Given the description of an element on the screen output the (x, y) to click on. 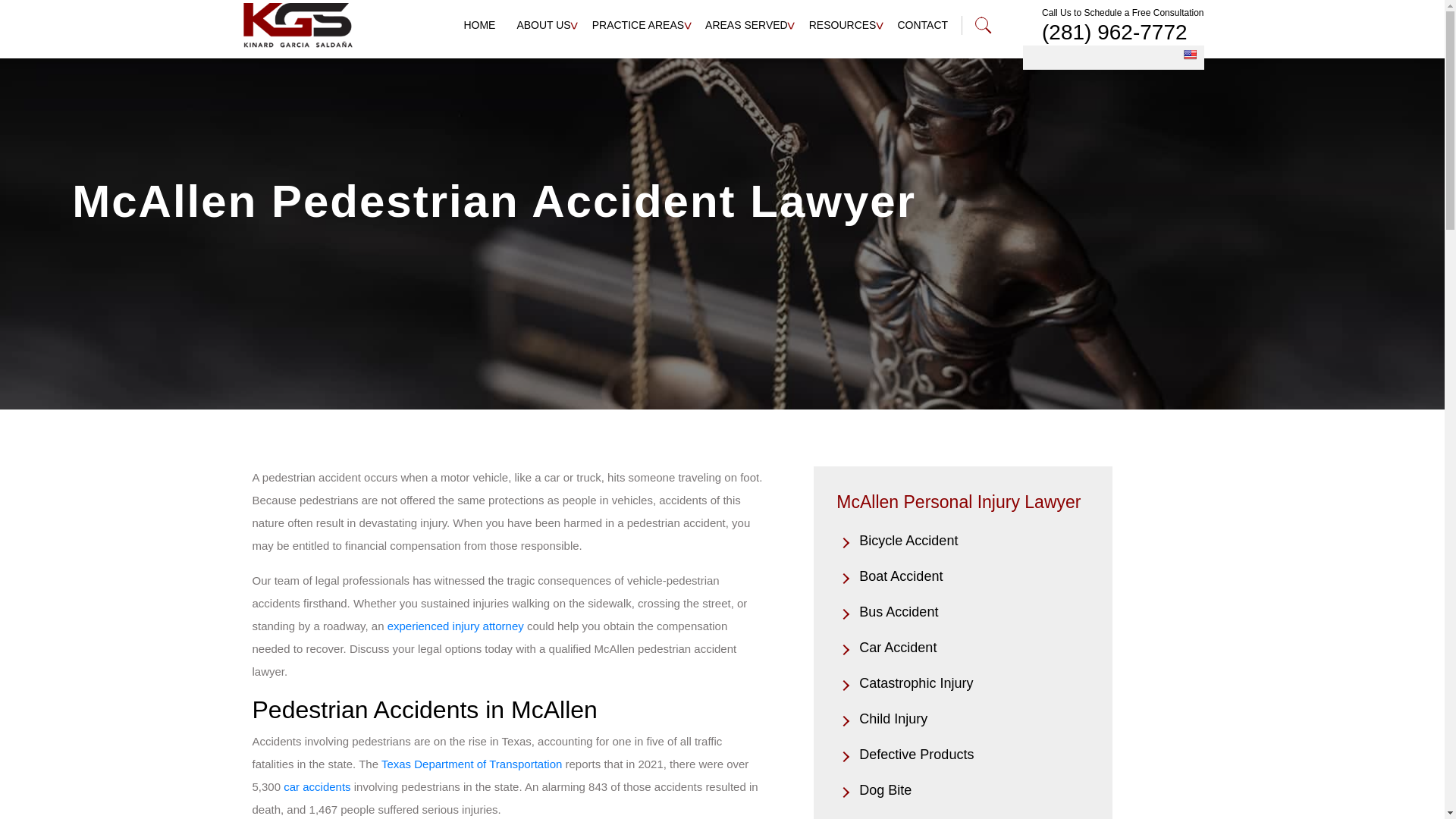
AREAS SERVED (745, 24)
ABOUT US (543, 24)
PRACTICE AREAS (638, 24)
HOME (479, 24)
CONTACT (921, 24)
English (1189, 54)
RESOURCES (842, 24)
